Given the description of an element on the screen output the (x, y) to click on. 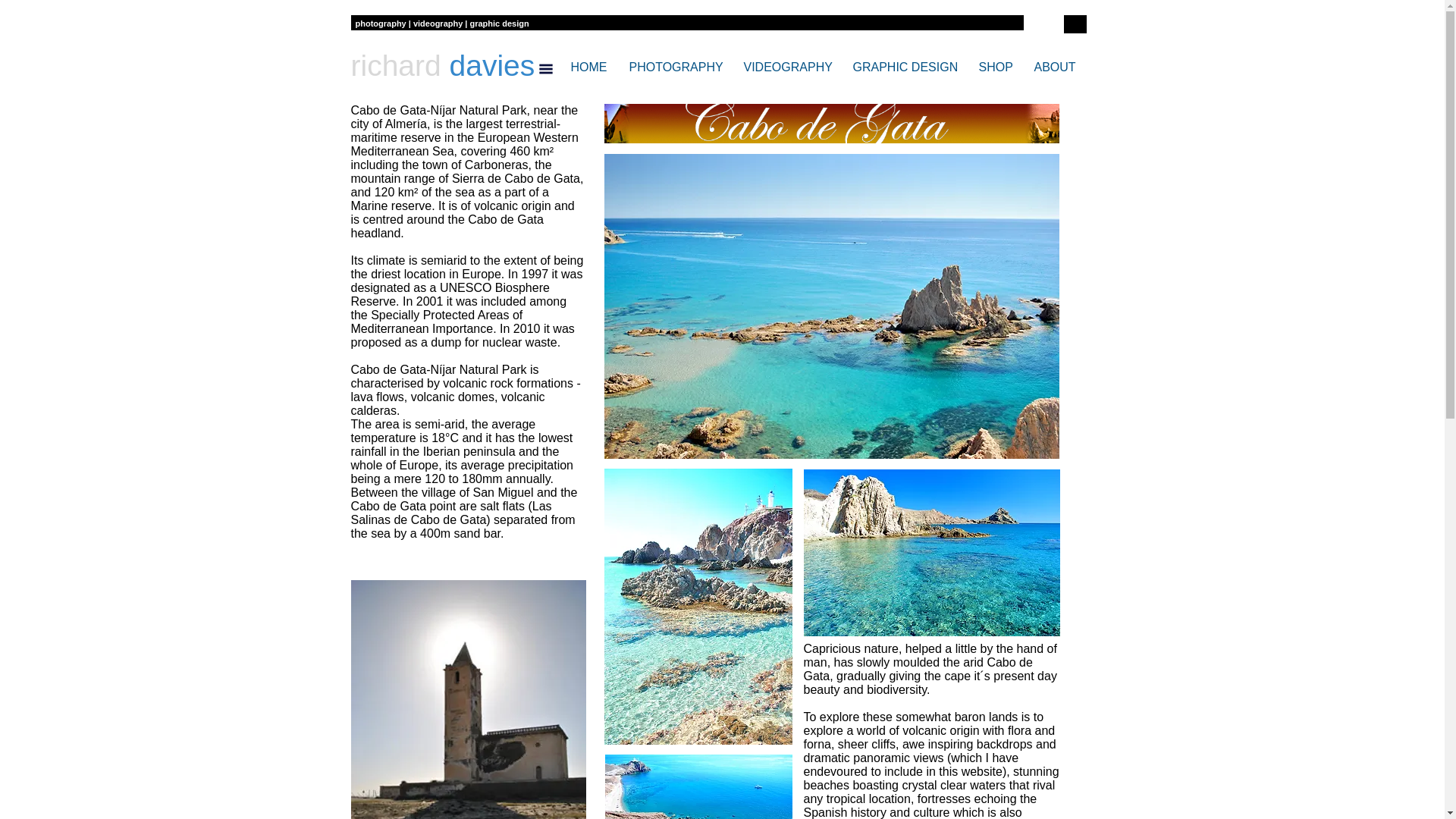
SHOP (998, 67)
VIDEOGRAPHY (789, 67)
GRAPHIC DESIGN (907, 67)
ABOUT (1058, 67)
PHOTOGRAPHY (678, 67)
HOME (591, 67)
